Given the description of an element on the screen output the (x, y) to click on. 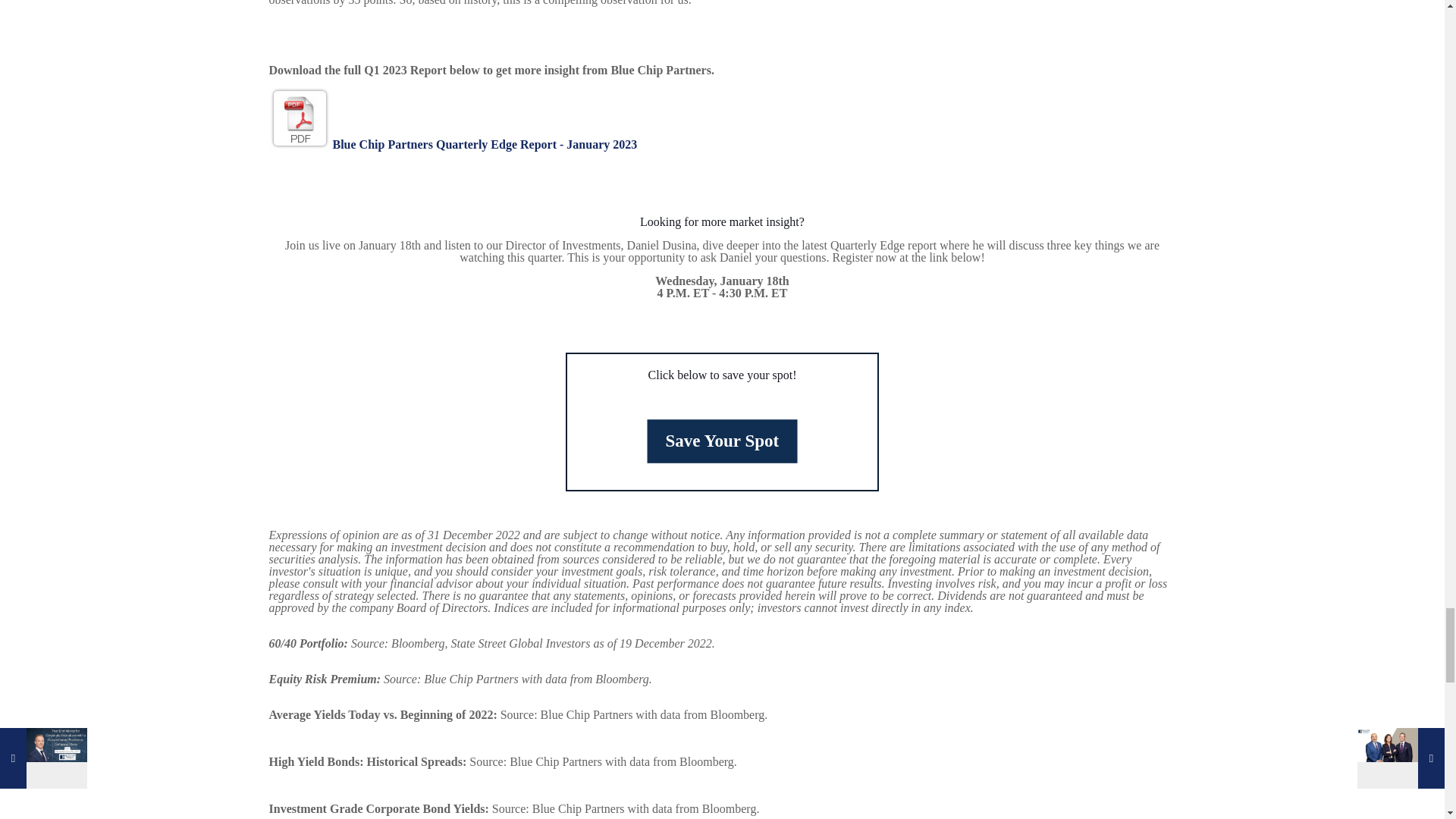
Blue Chip Partners Quarterly Edge Report - January 2023 (452, 144)
Save Your Spot (710, 437)
